Given the description of an element on the screen output the (x, y) to click on. 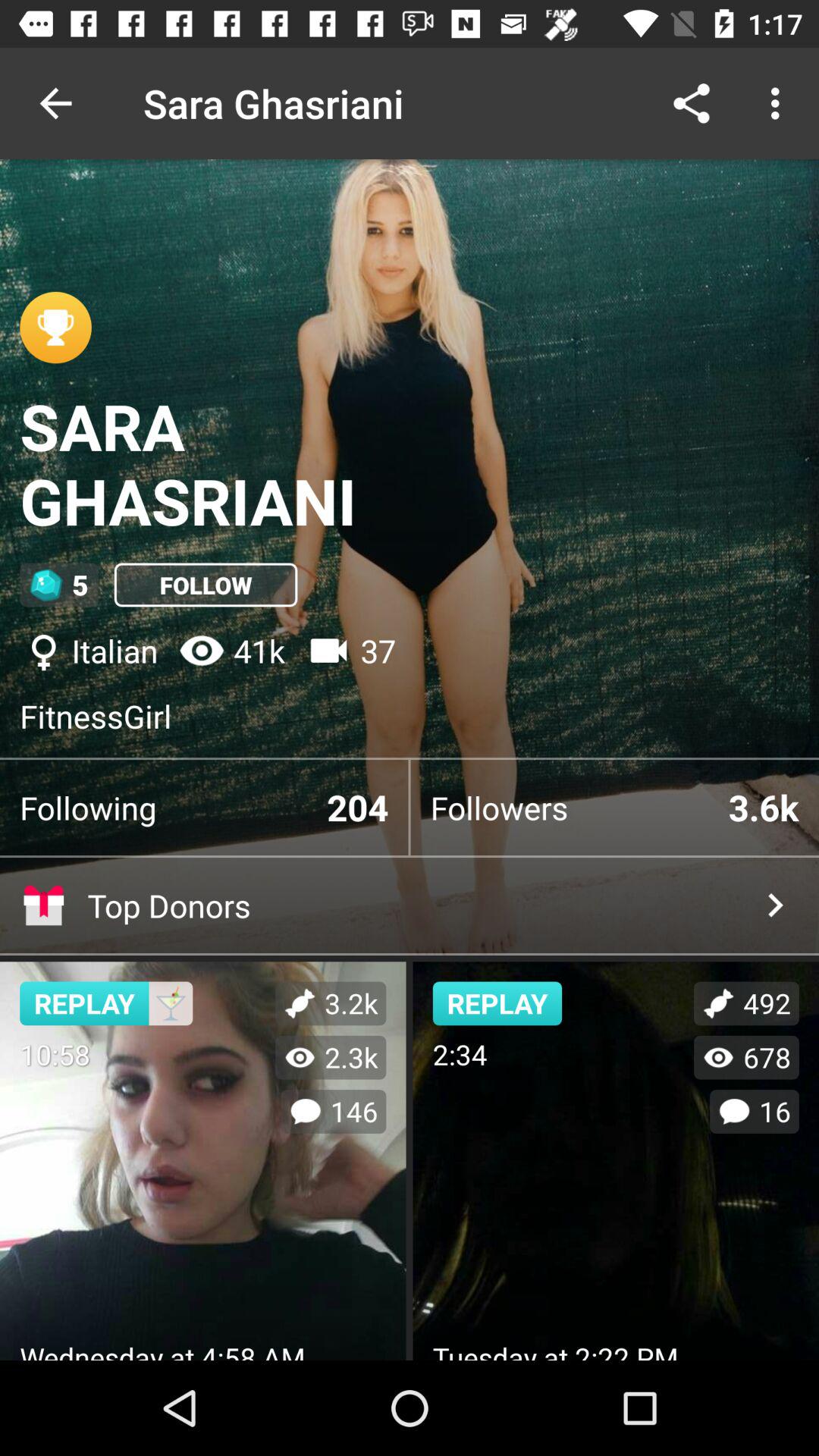
press the icon next to the 5 item (205, 584)
